Given the description of an element on the screen output the (x, y) to click on. 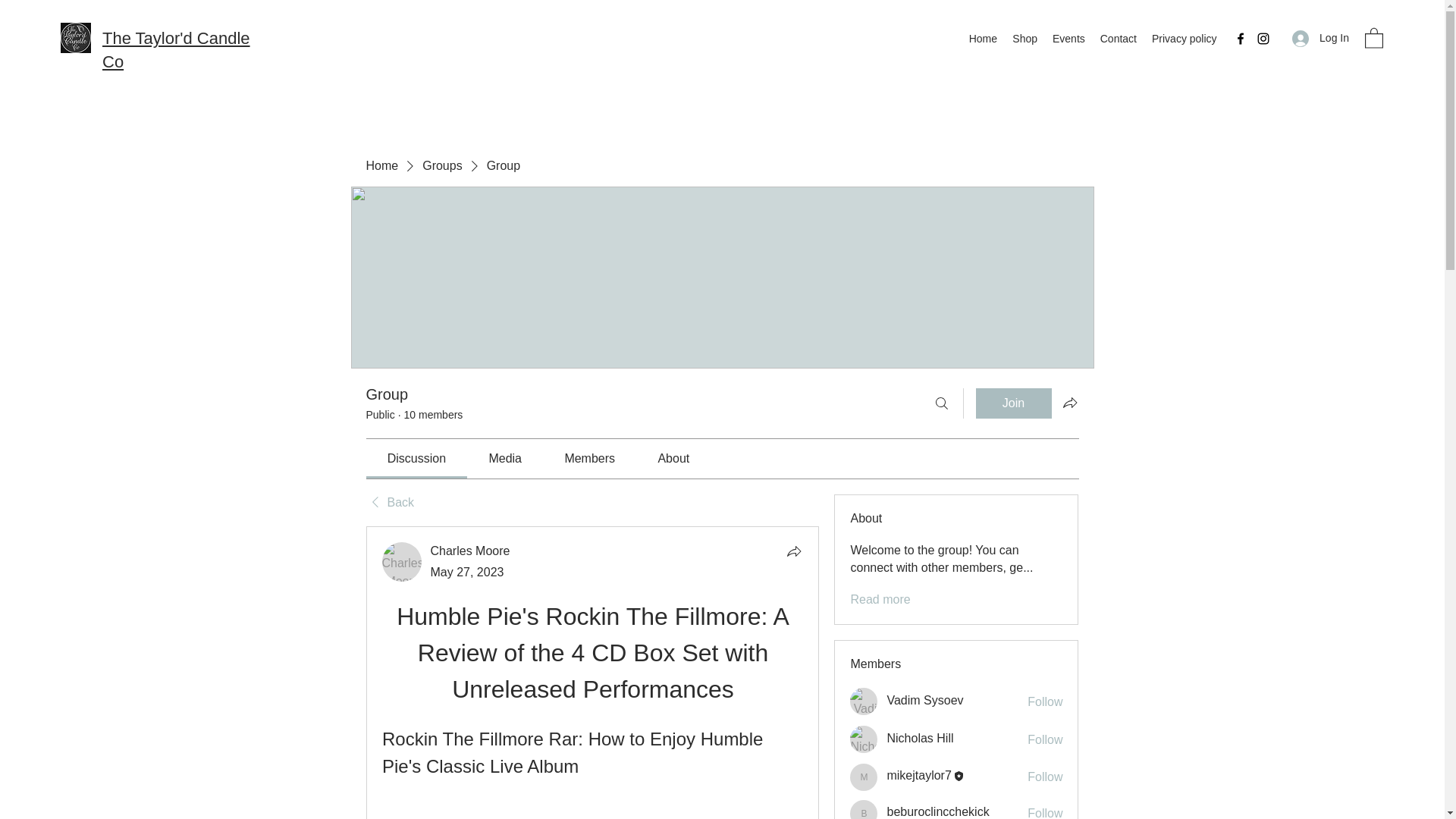
Back (389, 502)
Follow (1044, 740)
beburoclincchekick (937, 811)
Log In (1320, 38)
Shop (1024, 38)
Home (982, 38)
Read more (880, 599)
Join (1013, 403)
Follow (1044, 777)
Events (1067, 38)
